Given the description of an element on the screen output the (x, y) to click on. 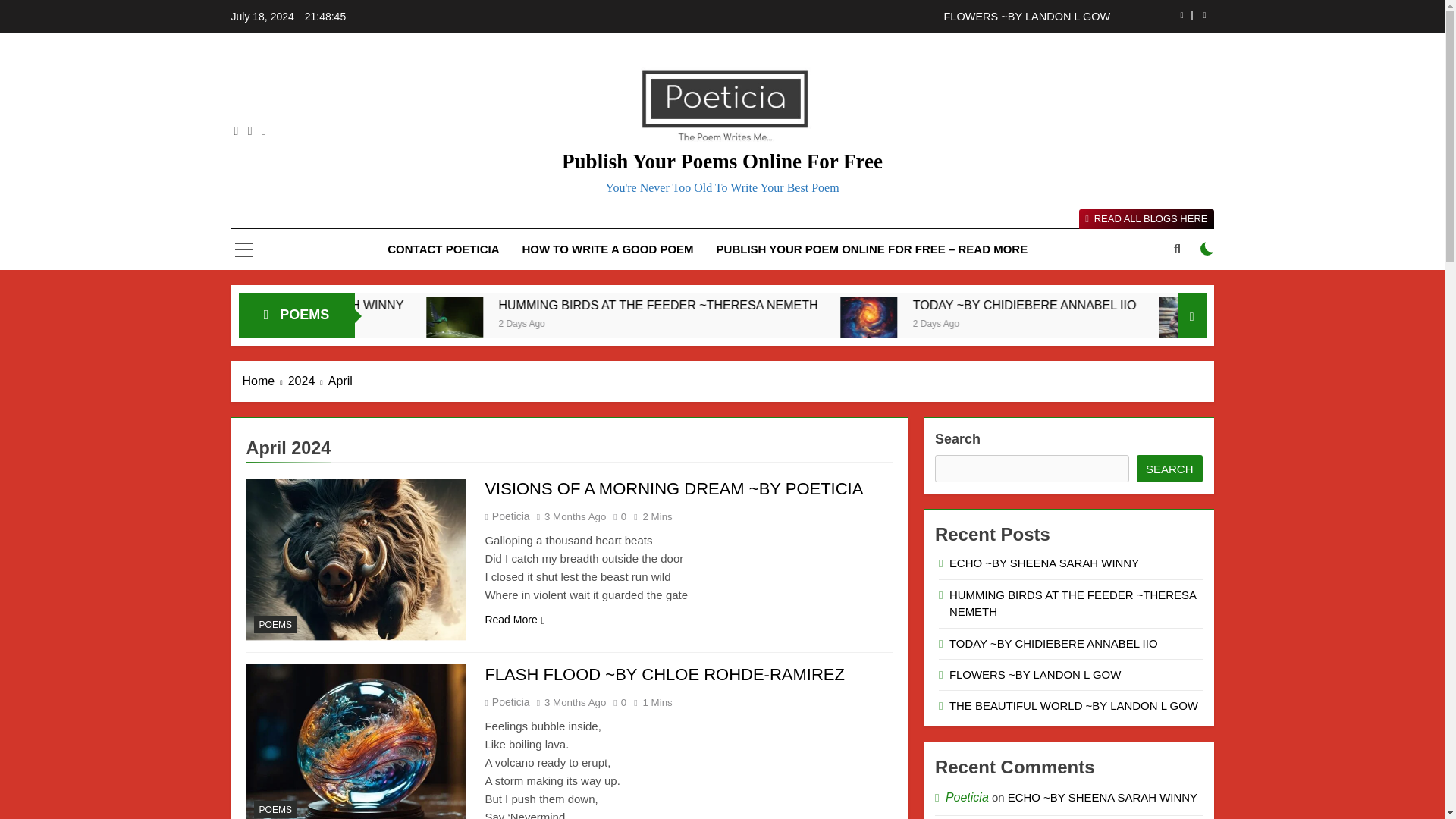
1 Day Ago (389, 322)
2 Days Ago (684, 322)
HOW TO WRITE A GOOD POEM (607, 249)
Publish Your Poems Online For Free (722, 160)
READ ALL BLOGS HERE (1145, 219)
2 Days Ago (1091, 322)
CONTACT POETICIA (443, 249)
on (1206, 248)
